Given the description of an element on the screen output the (x, y) to click on. 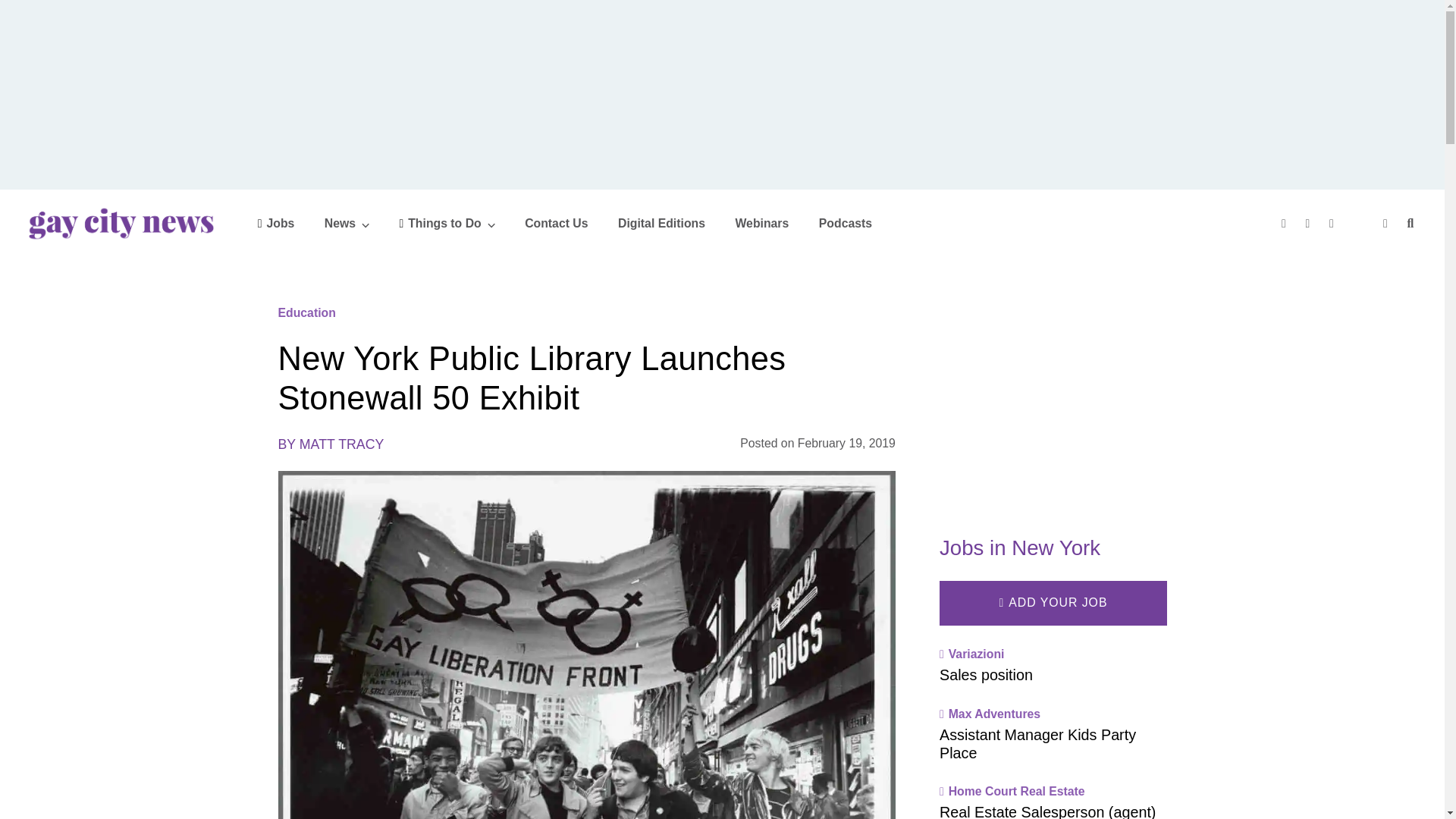
Podcasts (845, 223)
Things to Do (446, 223)
News (346, 223)
Jobs (276, 223)
Webinars (762, 223)
Contact Us (556, 223)
Digital Editions (660, 223)
